Given the description of an element on the screen output the (x, y) to click on. 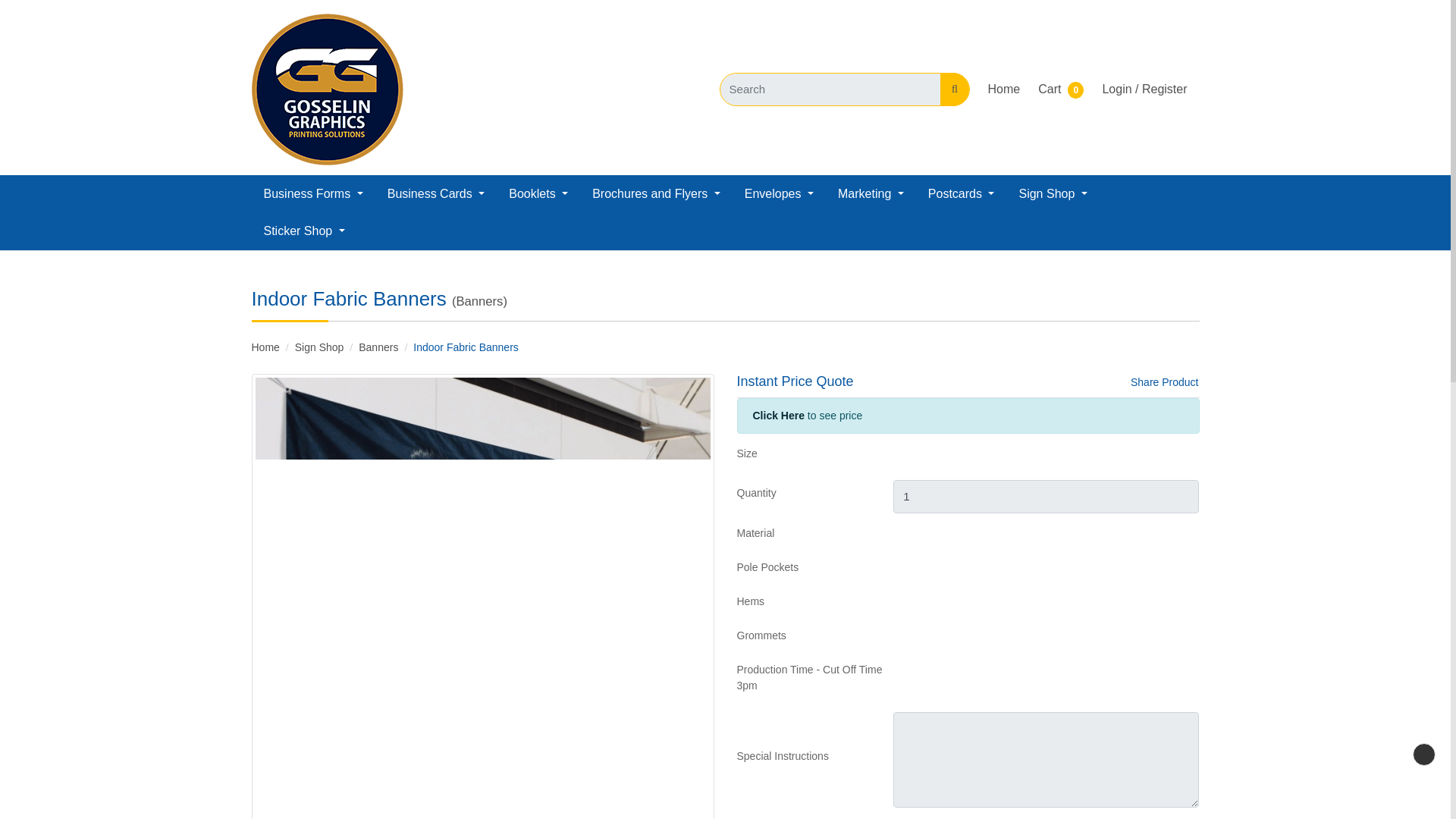
Home (1003, 88)
Brochures and Flyers (655, 193)
Business Forms (313, 193)
Cart  0 (1060, 88)
Envelopes (778, 193)
1 (1045, 496)
Booklets (537, 193)
Business Cards (436, 193)
